Given the description of an element on the screen output the (x, y) to click on. 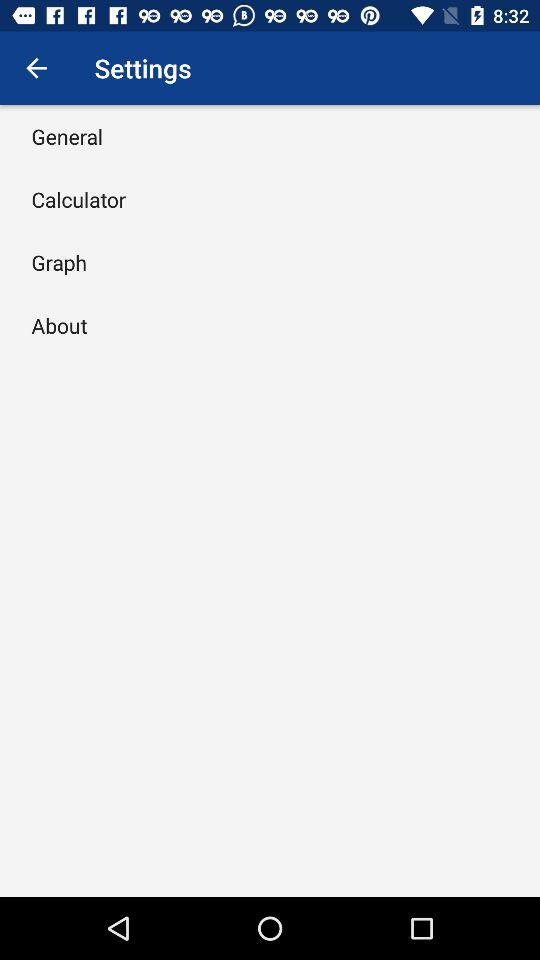
choose about (59, 325)
